Given the description of an element on the screen output the (x, y) to click on. 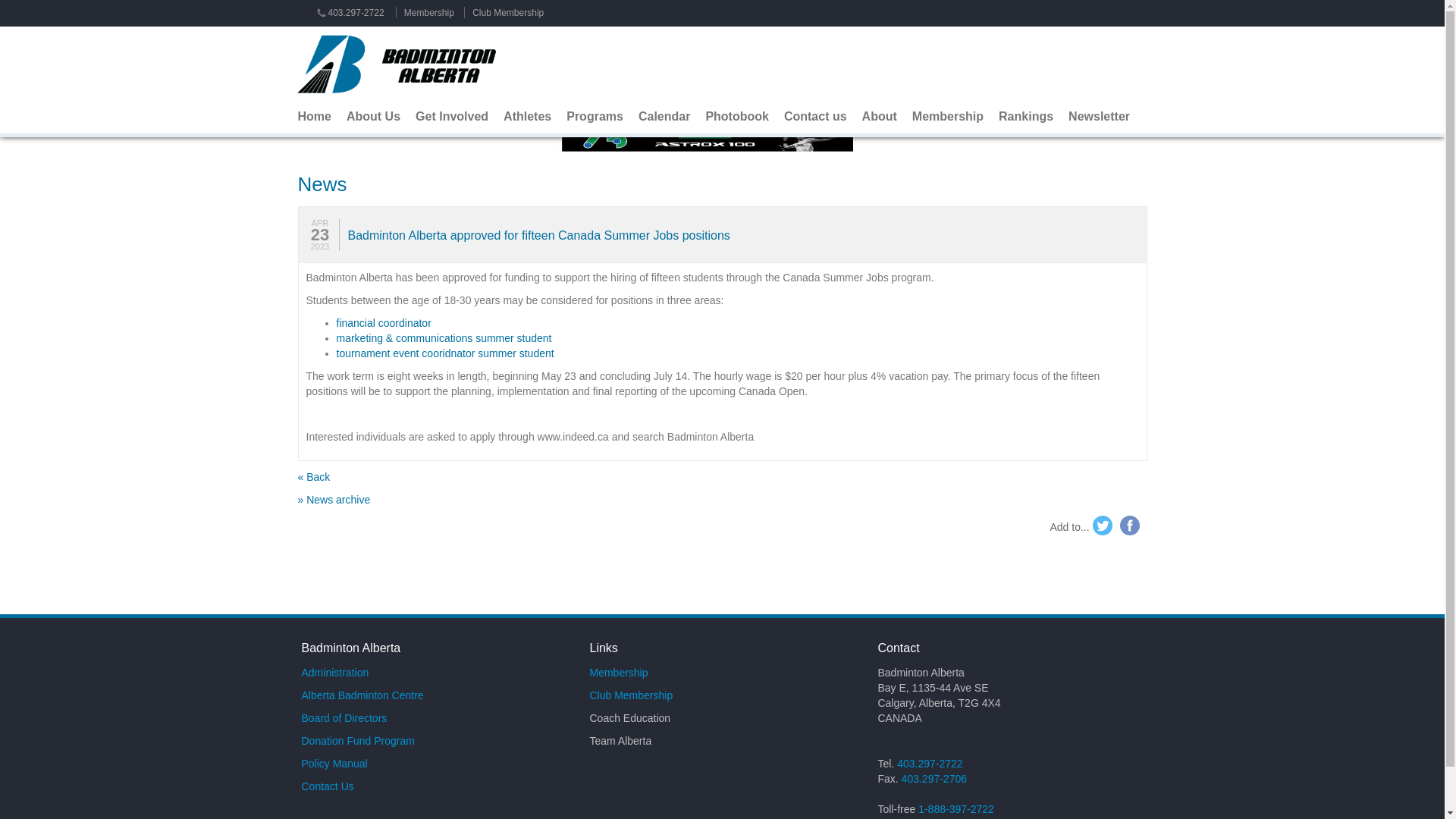
About Us (373, 116)
Athletes (527, 116)
403.297-2722 (349, 12)
Club Membership (507, 12)
Badminton Alberta (402, 63)
Get Involved (451, 116)
Home (313, 116)
Membership (429, 12)
Yonex 75 anniversary banner ad (721, 138)
Programs (594, 116)
